Given the description of an element on the screen output the (x, y) to click on. 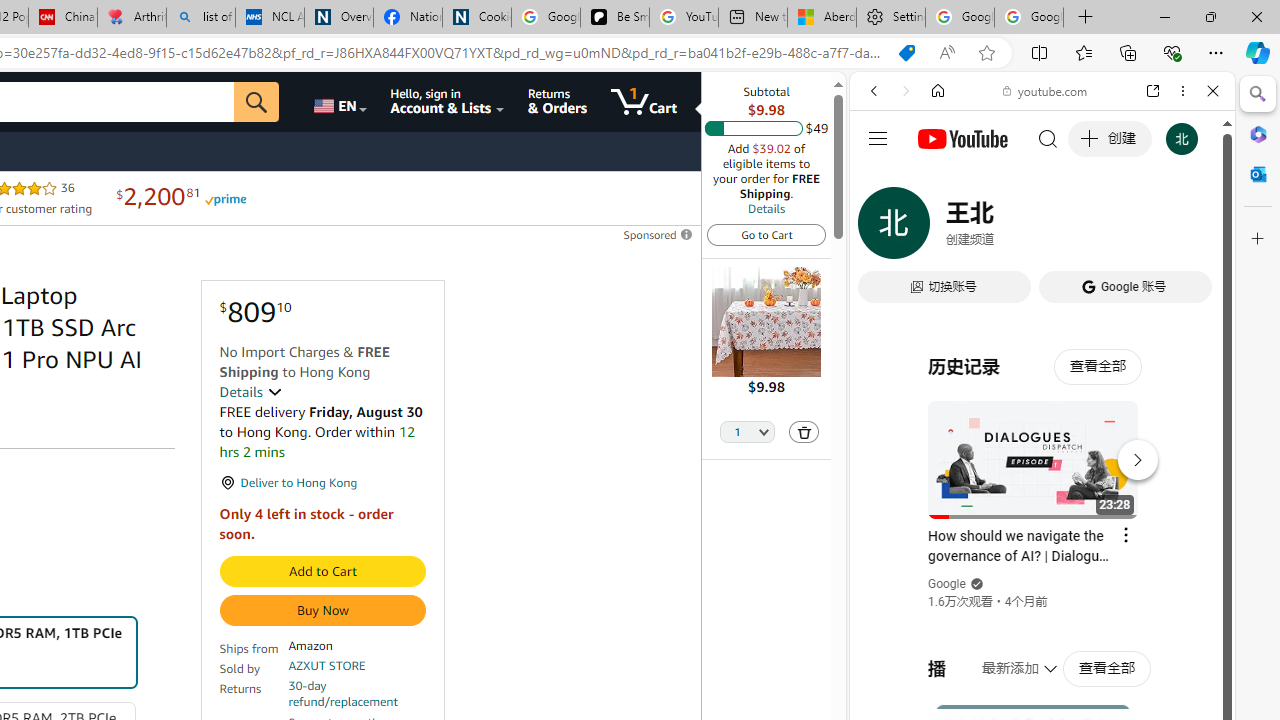
youtube.com (1046, 90)
More options (1182, 91)
Google (947, 584)
Forward (906, 91)
Delete (804, 431)
Go (257, 101)
1 item in cart (643, 101)
Add to Cart (322, 571)
AZXUT STORE (327, 665)
Settings and more (Alt+F) (1215, 52)
IMAGES (939, 228)
This site scope (936, 180)
Trailer #2 [HD] (1042, 592)
